Given the description of an element on the screen output the (x, y) to click on. 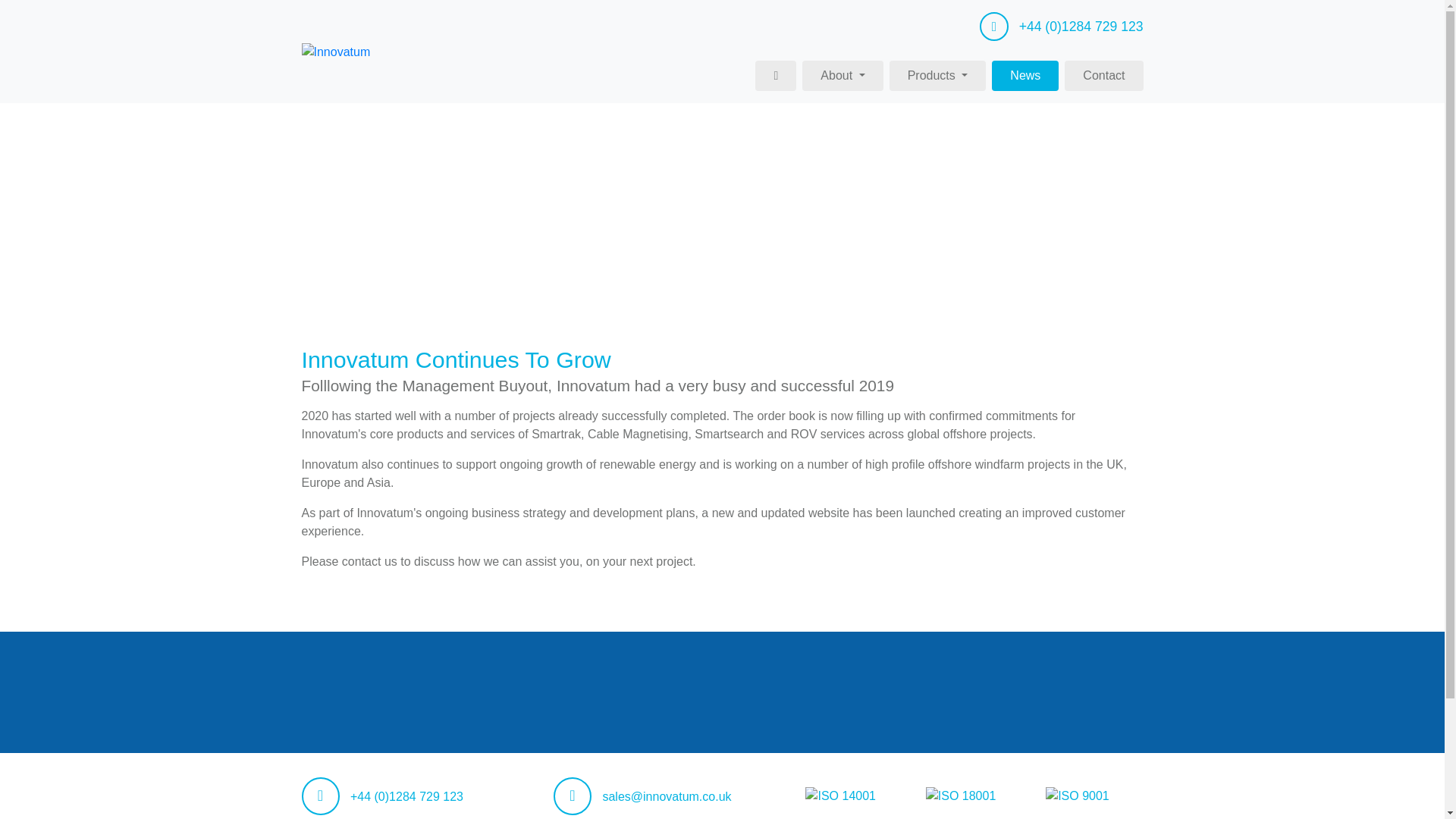
About (842, 75)
Call Us (1060, 26)
About (842, 75)
Products (938, 75)
Contact (1103, 75)
Contact (1103, 75)
Call Us (382, 796)
Products (938, 75)
Email Us (642, 796)
Home (336, 51)
